Given the description of an element on the screen output the (x, y) to click on. 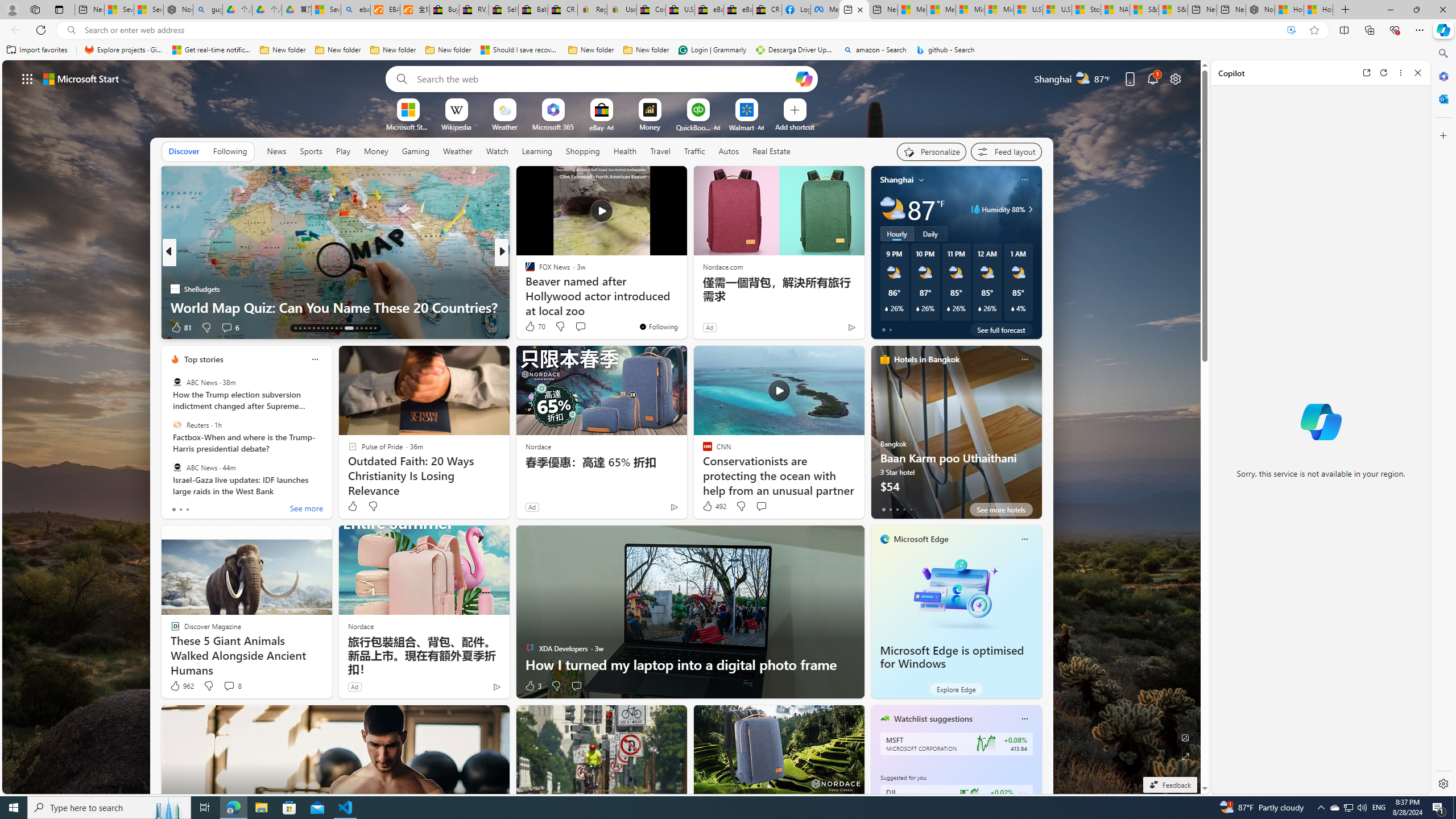
Consumer Health Data Privacy Policy - eBay Inc. (651, 9)
AutomationID: tab-32 (361, 328)
AutomationID: tab-13 (295, 328)
See full forecast (1000, 329)
RV, Trailer & Camper Steps & Ladders for sale | eBay (473, 9)
Discover (183, 151)
AutomationID: tab-16 (309, 328)
Men's Health (524, 270)
tab-2 (897, 509)
Following (229, 151)
Copilot (Ctrl+Shift+.) (1442, 29)
Page settings (1175, 78)
How To Start Windows In Safe Mode (684, 307)
